Given the description of an element on the screen output the (x, y) to click on. 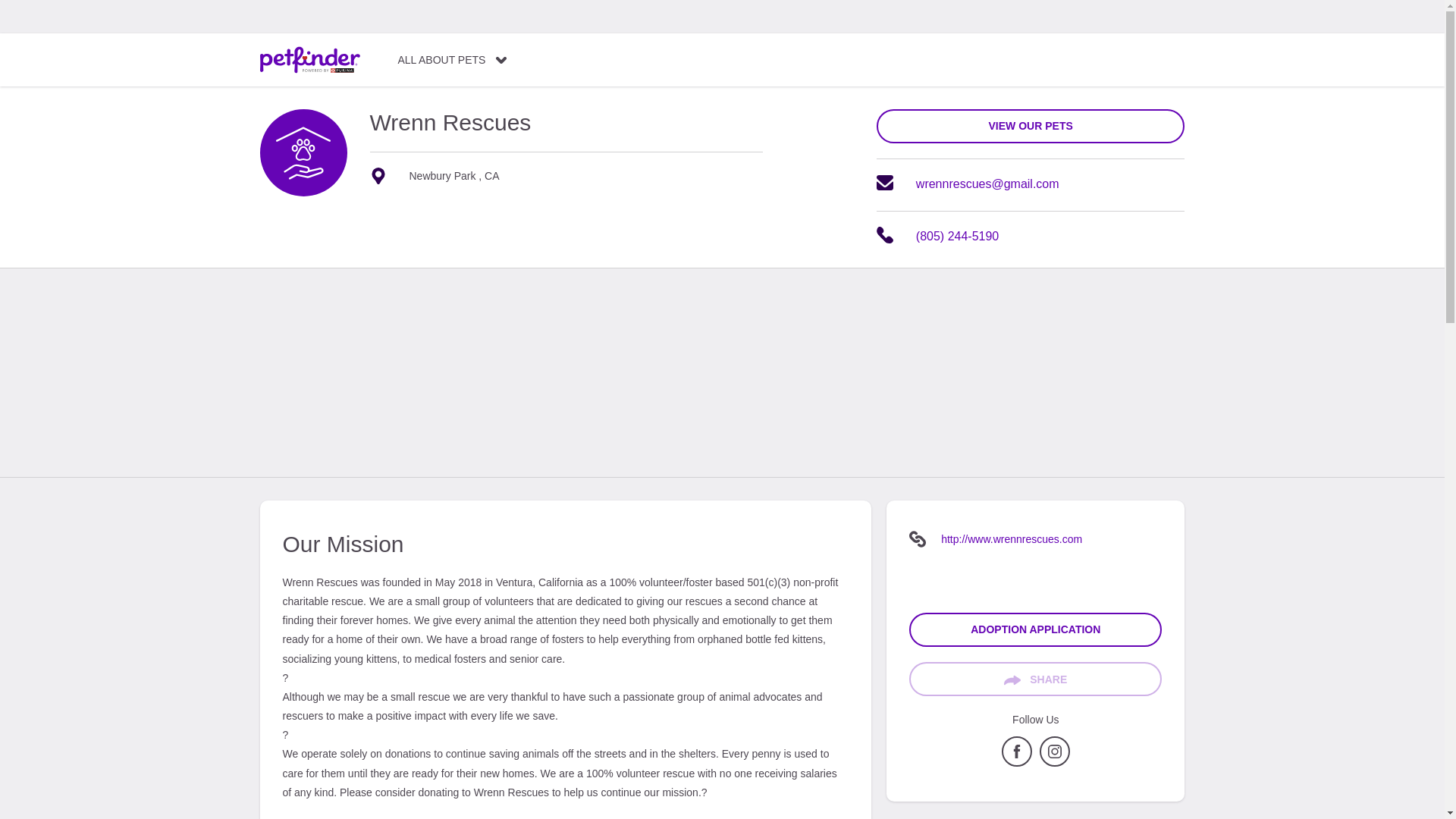
Follow Us on Instagram (1054, 762)
ALL ABOUT PETS (451, 60)
Follow Us on Facebook (1016, 762)
